Given the description of an element on the screen output the (x, y) to click on. 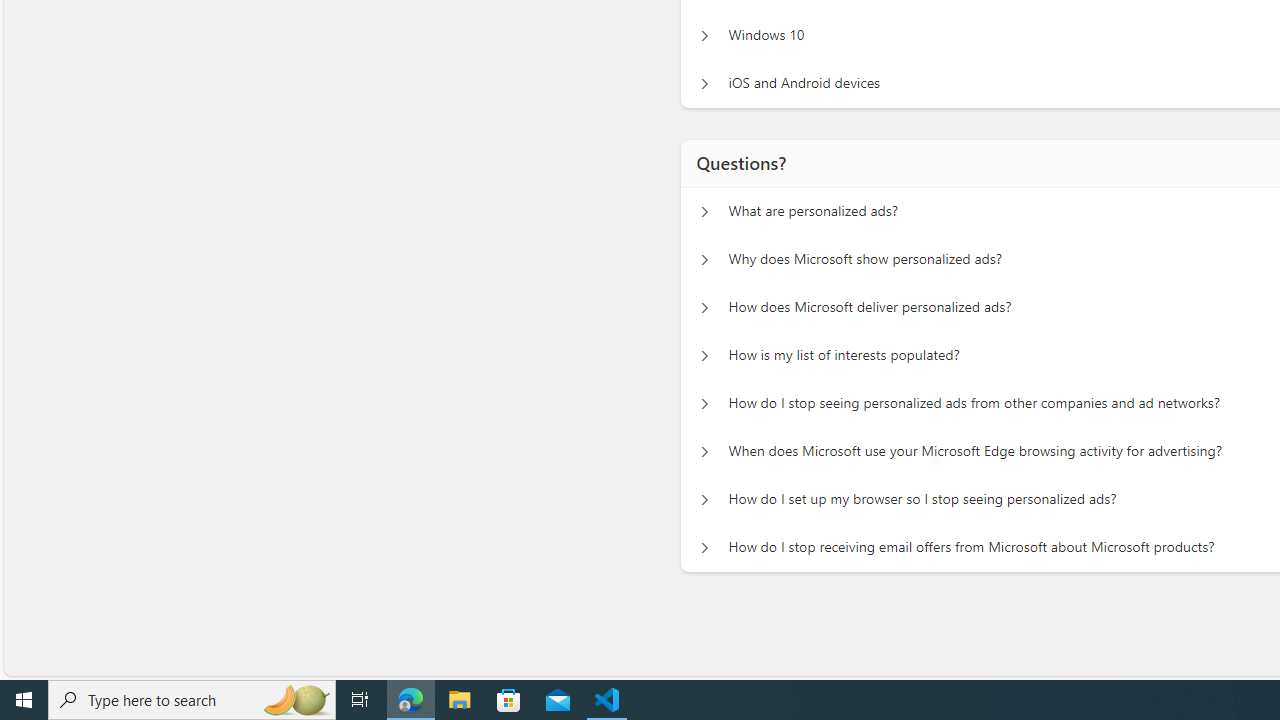
Manage personalized ads on your device Windows 10 (702, 36)
Questions? What are personalized ads? (702, 211)
Questions? How is my list of interests populated? (702, 355)
Questions? How does Microsoft deliver personalized ads? (702, 307)
Questions? Why does Microsoft show personalized ads? (702, 260)
